Given the description of an element on the screen output the (x, y) to click on. 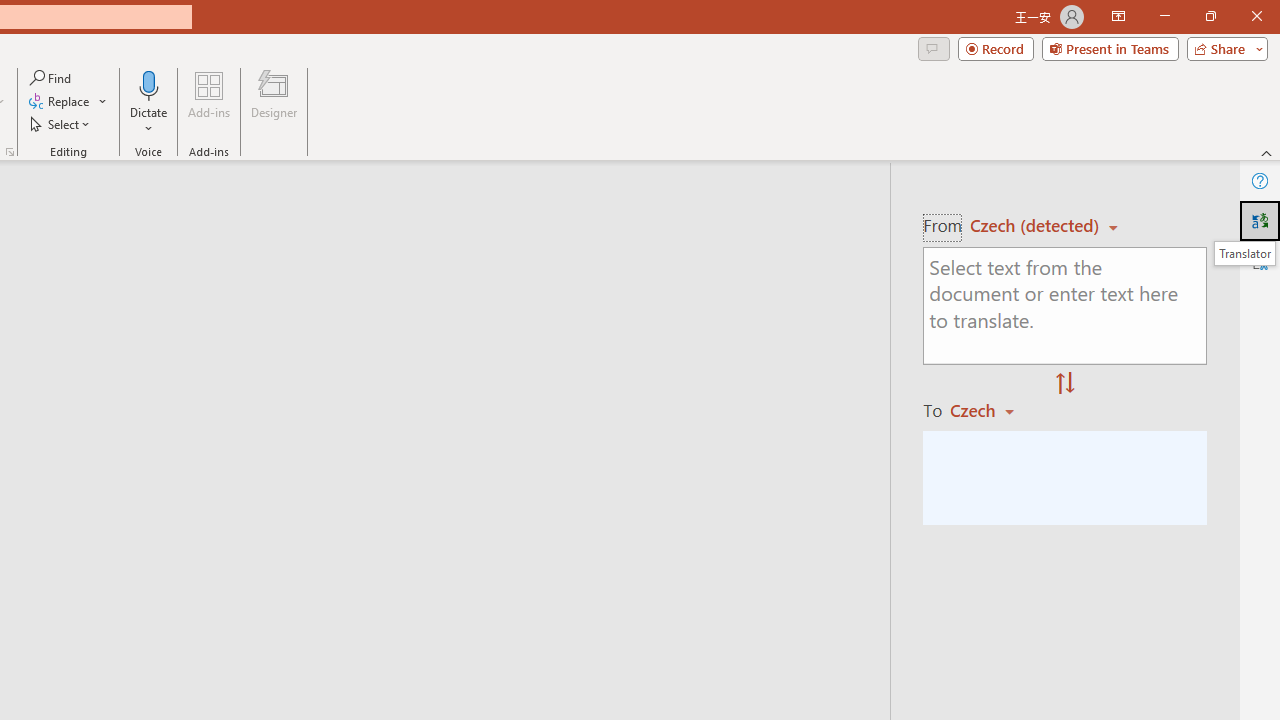
Translator (1244, 253)
Translator (1260, 220)
Collapse the Ribbon (1267, 152)
Swap "from" and "to" languages. (1065, 383)
Restore Down (1210, 16)
Czech (detected) (1037, 225)
